Given the description of an element on the screen output the (x, y) to click on. 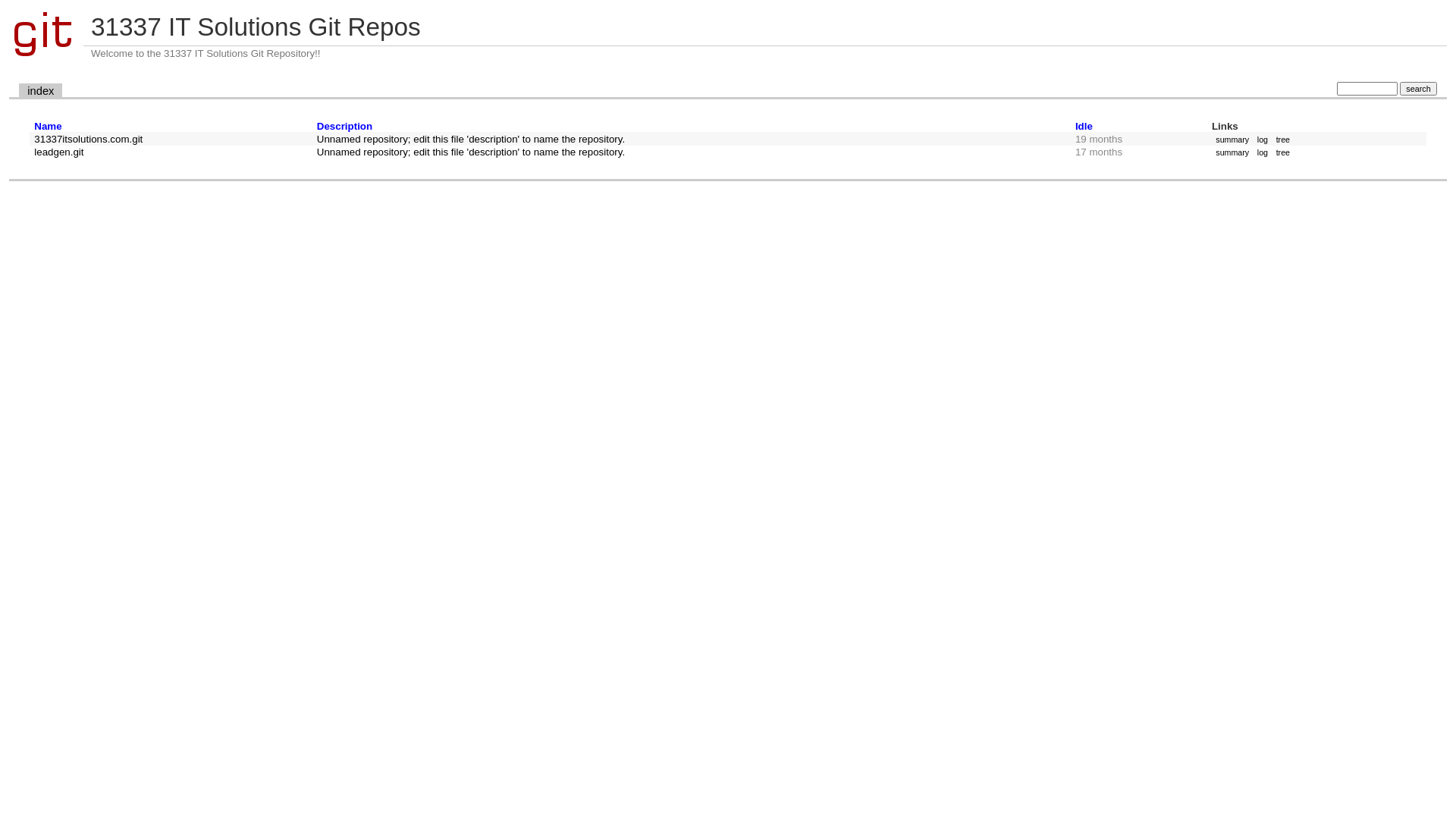
search Element type: text (1417, 88)
Name Element type: text (47, 125)
Idle Element type: text (1083, 125)
log Element type: text (1261, 151)
summary Element type: text (1231, 139)
index Element type: text (40, 90)
Description Element type: text (344, 125)
tree Element type: text (1282, 151)
tree Element type: text (1282, 139)
31337itsolutions.com.git Element type: text (88, 138)
leadgen.git Element type: text (58, 151)
log Element type: text (1261, 139)
summary Element type: text (1231, 151)
